Given the description of an element on the screen output the (x, y) to click on. 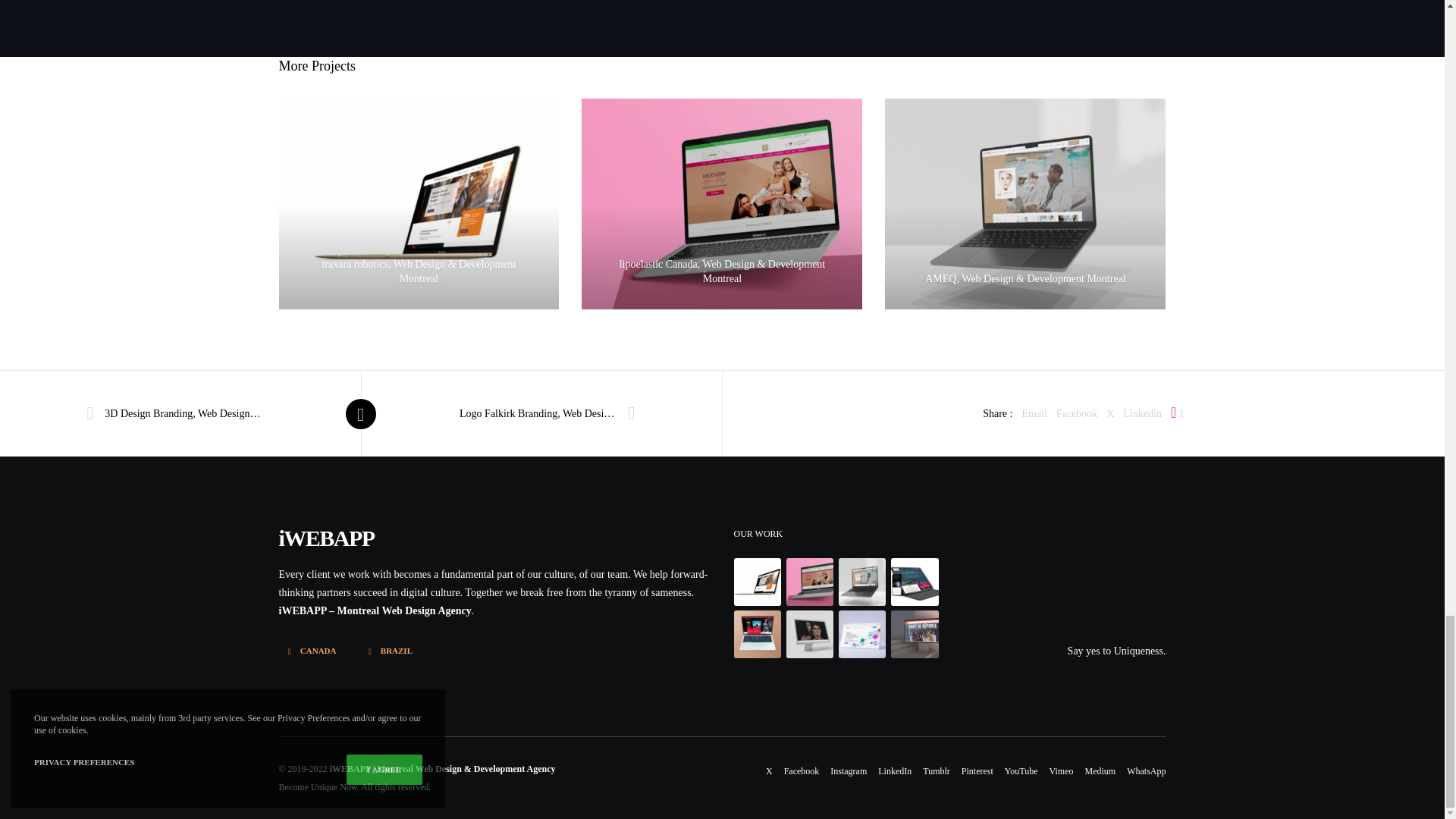
Linkedin (1141, 413)
Facebook (1077, 413)
Email (1034, 413)
